Given the description of an element on the screen output the (x, y) to click on. 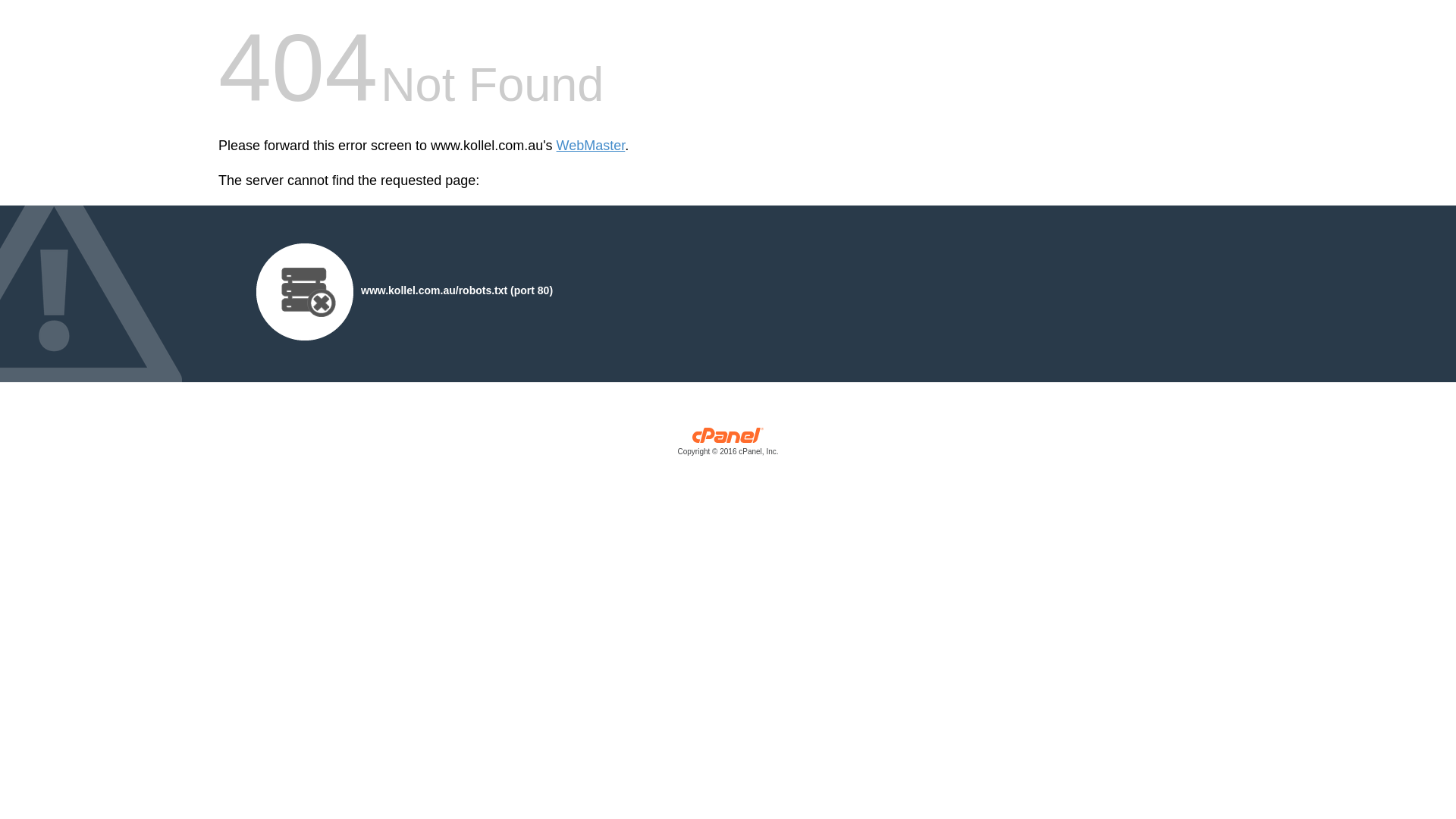
WebMaster Element type: text (590, 145)
